Given the description of an element on the screen output the (x, y) to click on. 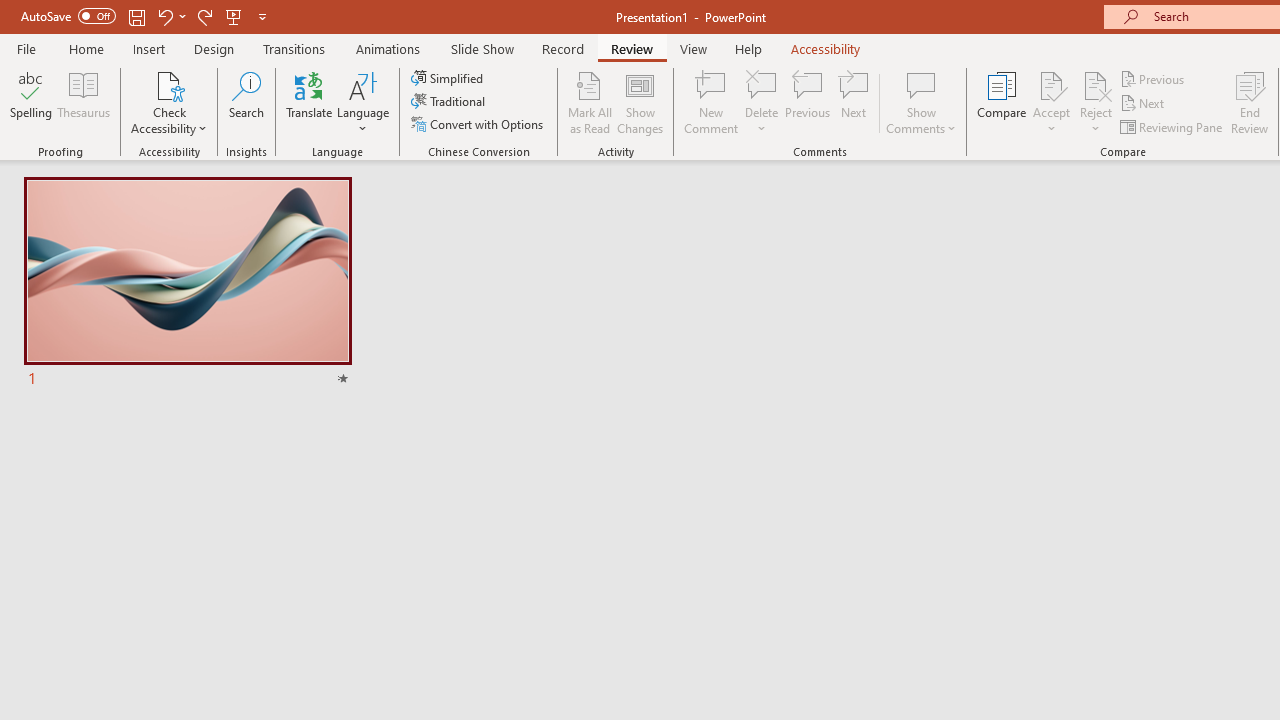
Reviewing Pane (1172, 126)
